Given the description of an element on the screen output the (x, y) to click on. 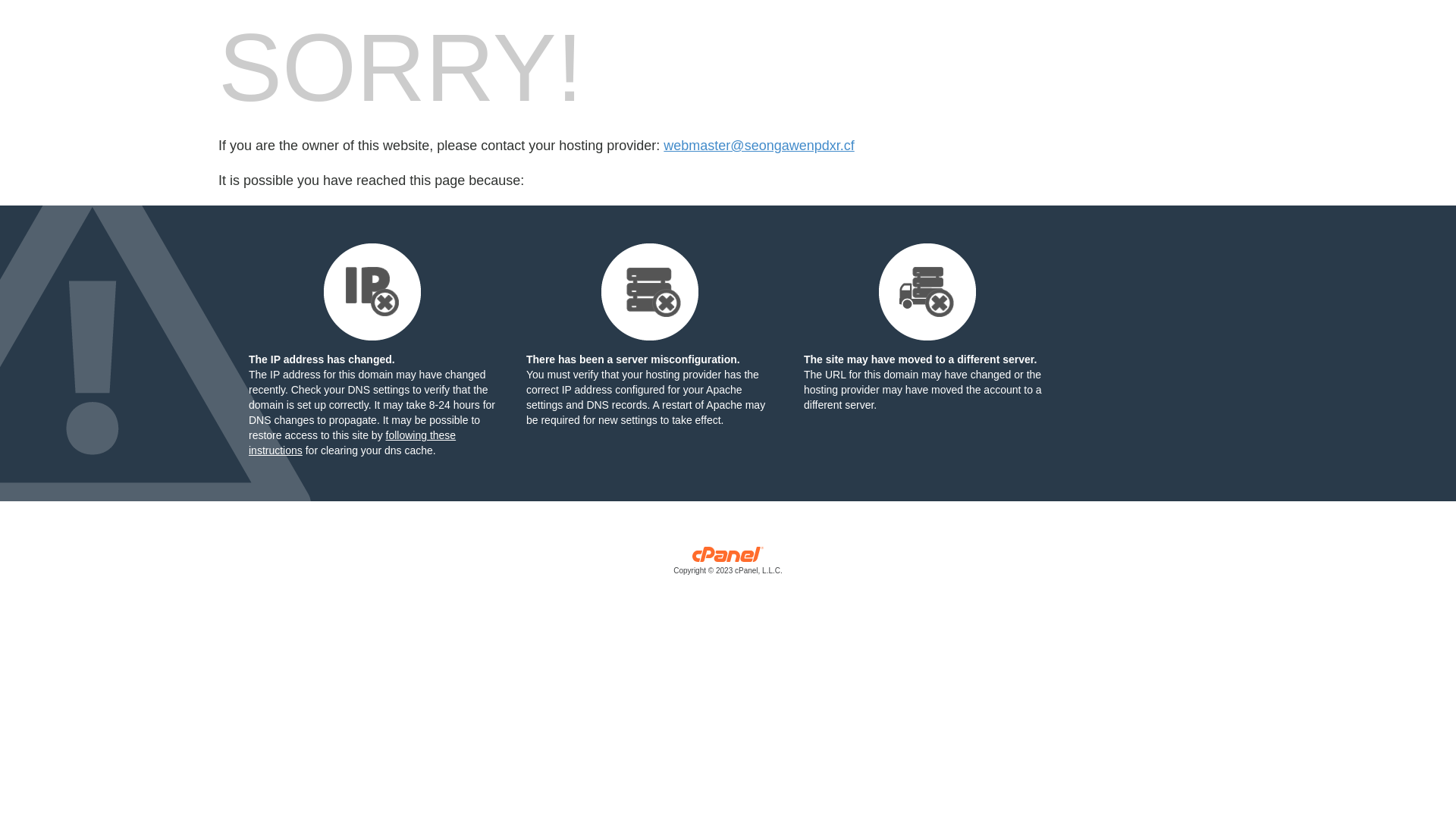
following these instructions Element type: text (351, 442)
webmaster@seongawenpdxr.cf Element type: text (758, 145)
